Given the description of an element on the screen output the (x, y) to click on. 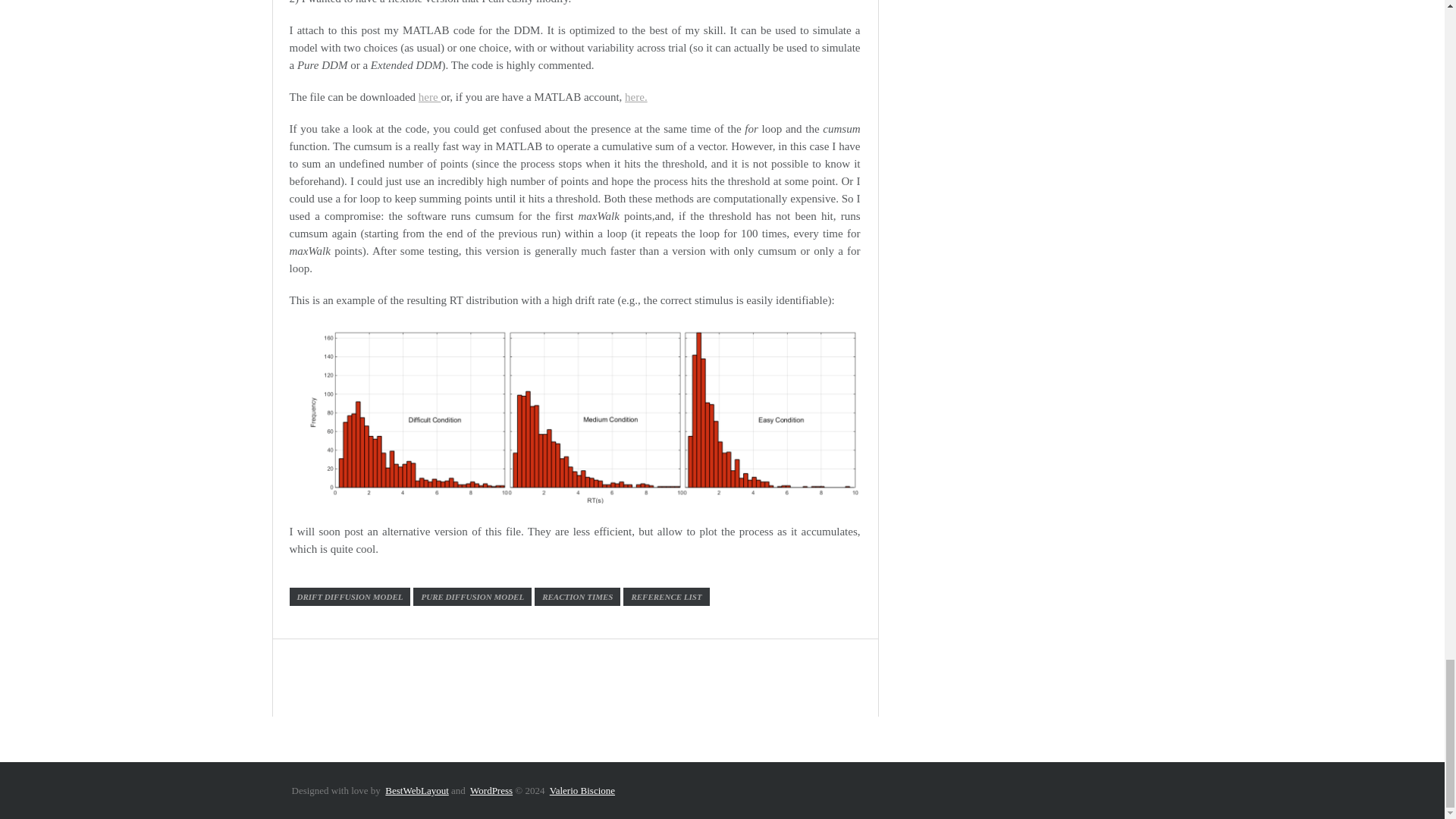
REFERENCE LIST (666, 597)
here (430, 96)
REACTION TIMES (577, 597)
here. (635, 96)
DRIFT DIFFUSION MODEL (349, 597)
PURE DIFFUSION MODEL (472, 597)
